Given the description of an element on the screen output the (x, y) to click on. 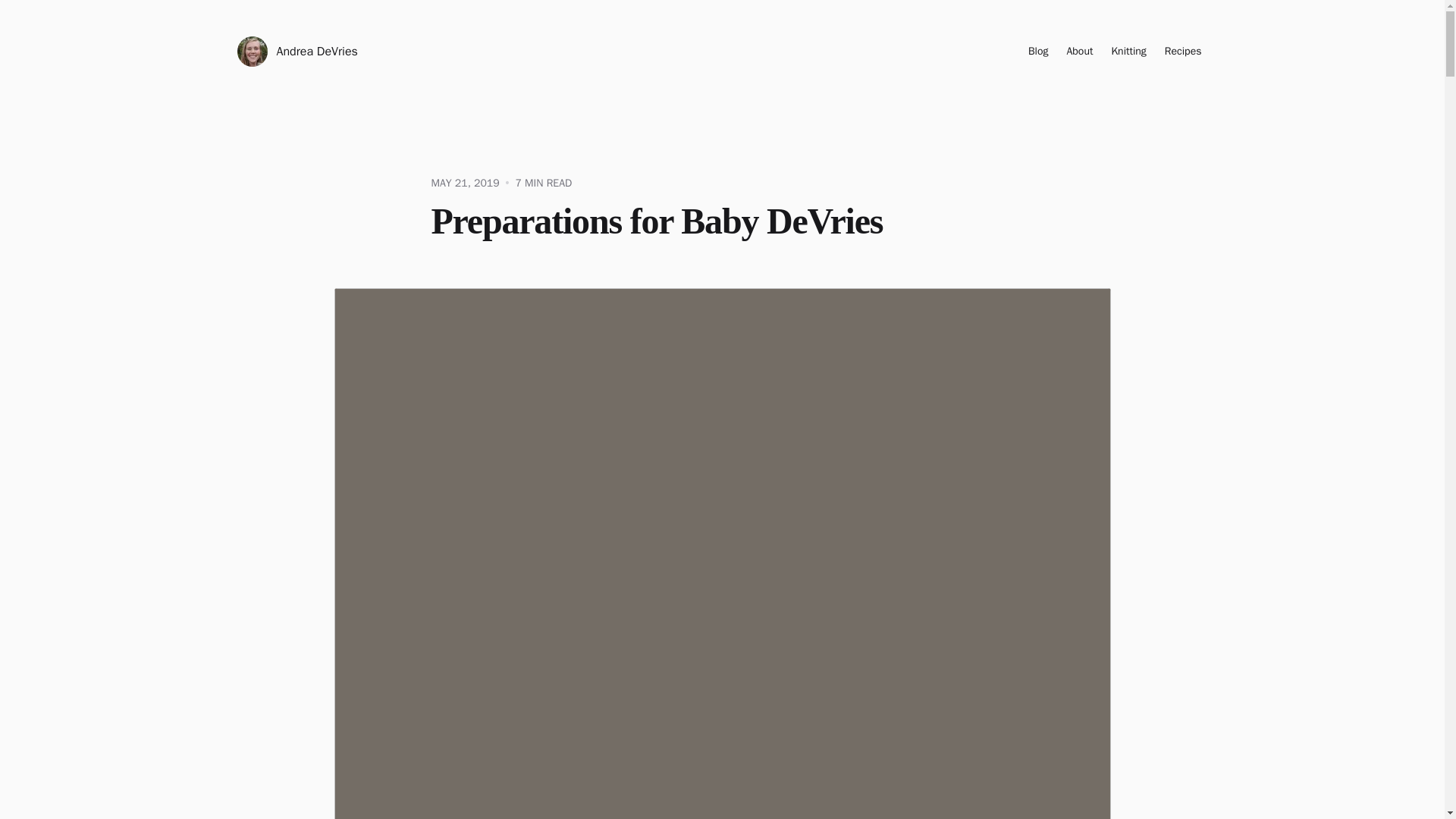
Andrea DeVries (295, 51)
Recipes (1183, 51)
Knitting (1128, 51)
Blog (1038, 51)
About (1079, 51)
